Given the description of an element on the screen output the (x, y) to click on. 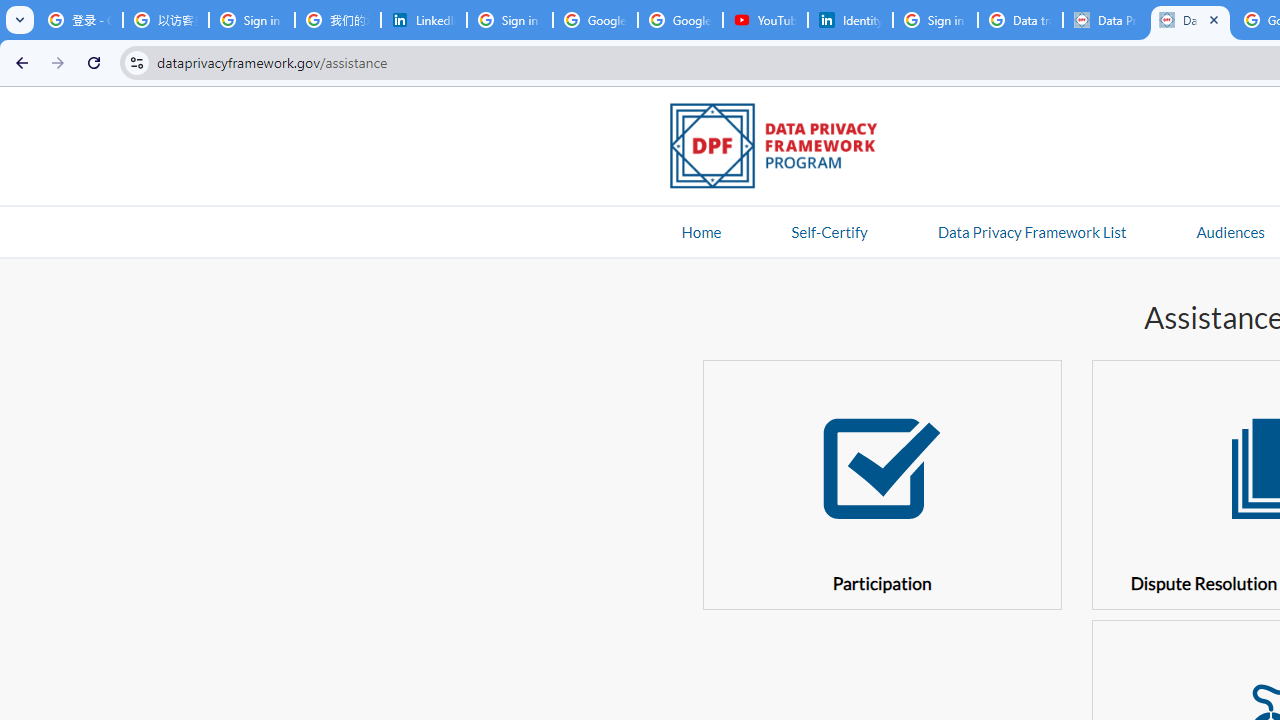
Data Privacy Framework List (1031, 231)
Data Privacy Framework Logo - Link to Homepage (783, 149)
Sign in - Google Accounts (509, 20)
Audiences (1230, 231)
